Given the description of an element on the screen output the (x, y) to click on. 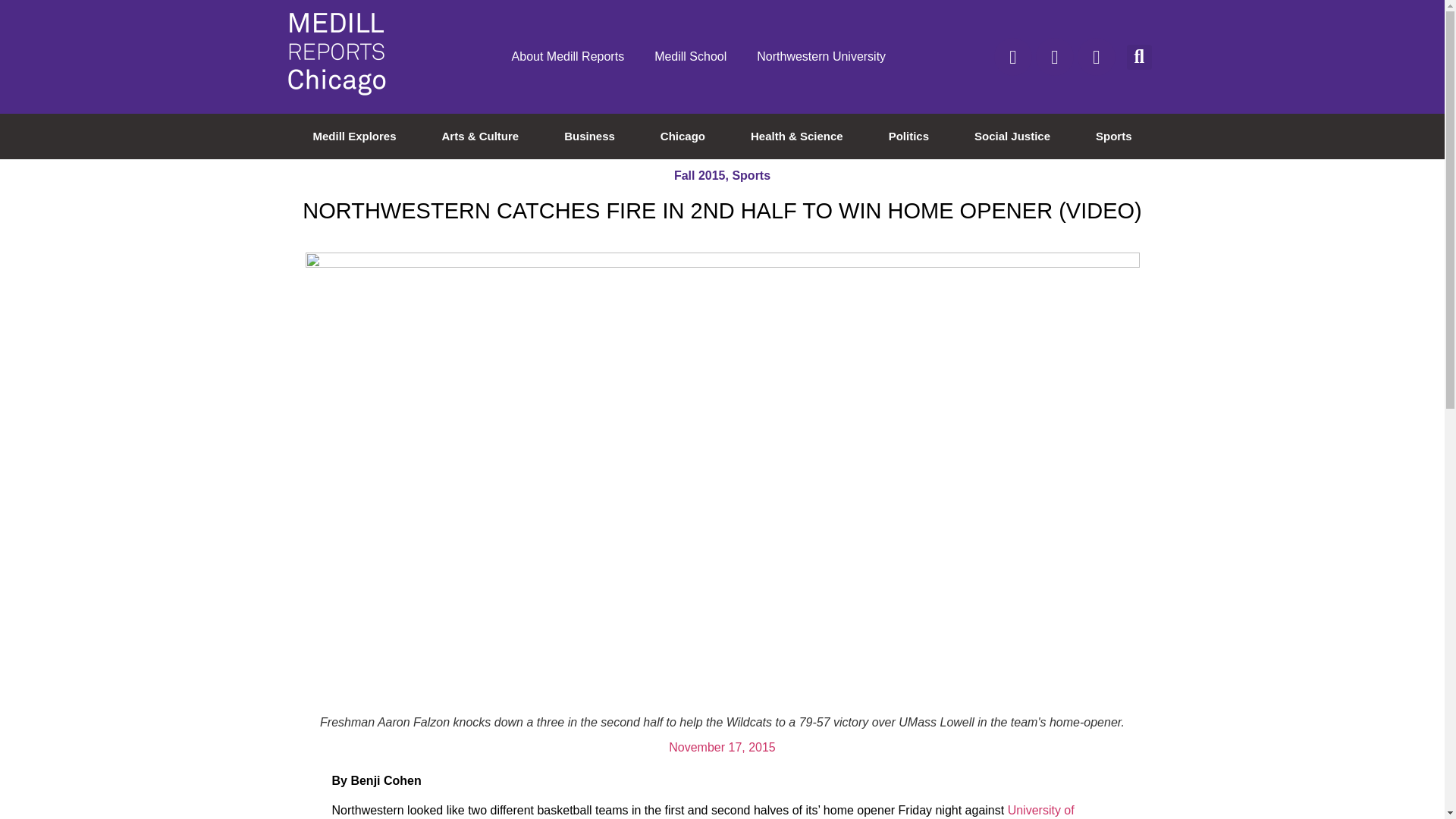
Medill Explores (354, 135)
About Medill Reports (568, 56)
Medill School (690, 56)
Northwestern University (821, 56)
